Given the description of an element on the screen output the (x, y) to click on. 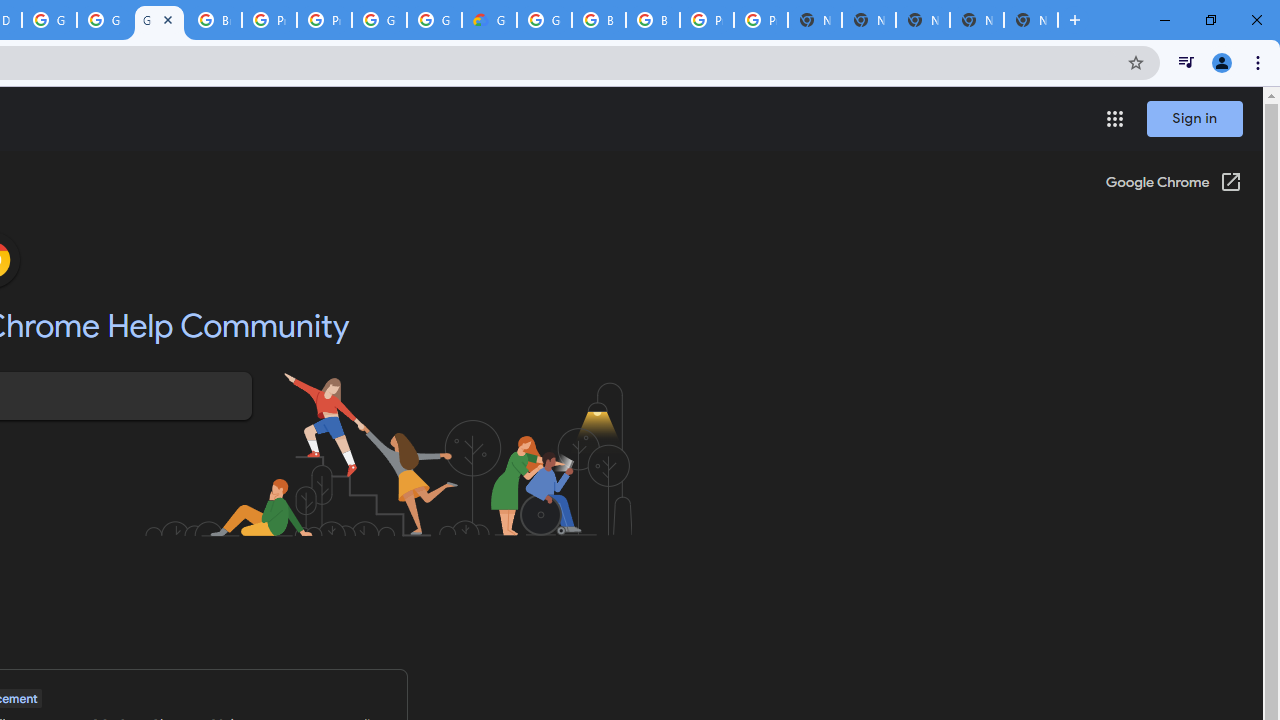
Google Chrome (Open in a new window) (1173, 183)
Google Cloud Estimate Summary (489, 20)
